Given the description of an element on the screen output the (x, y) to click on. 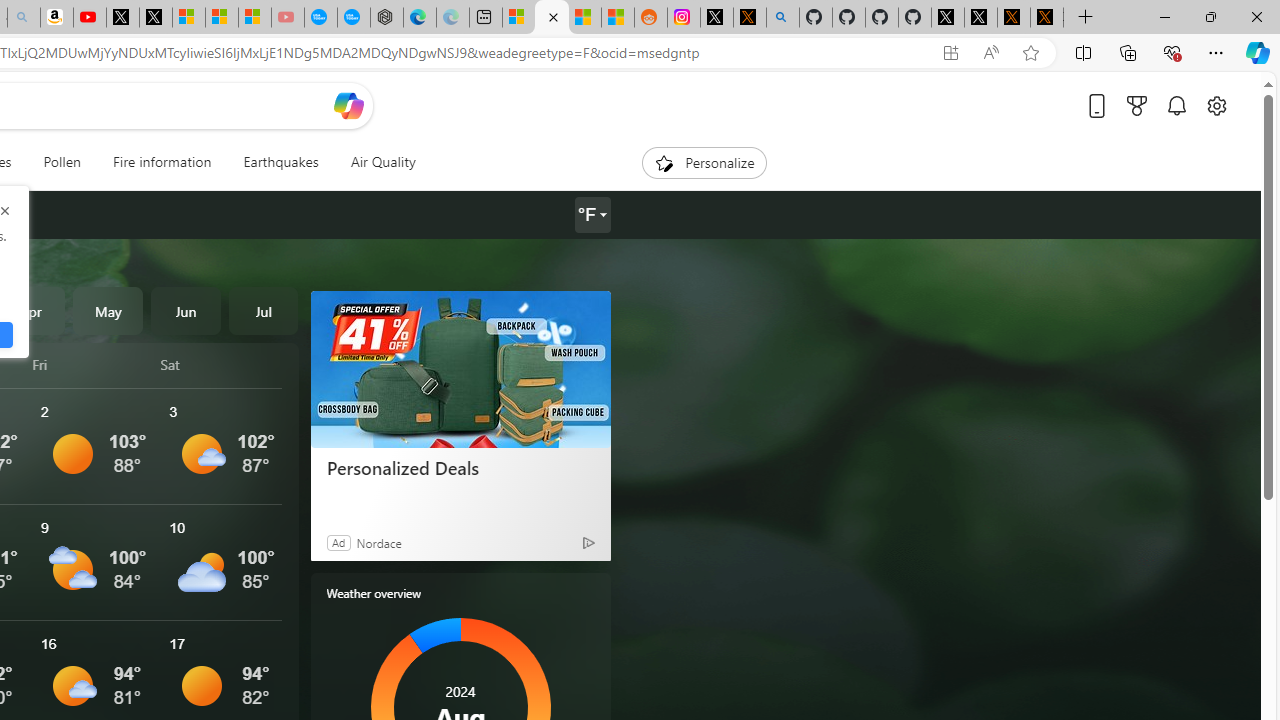
Personalized Deals (460, 467)
Microsoft account | Microsoft Account Privacy Settings (519, 17)
Sat (221, 363)
Personalized Deals (459, 368)
Pollen (61, 162)
help.x.com | 524: A timeout occurred (749, 17)
Fire information (161, 162)
